Given the description of an element on the screen output the (x, y) to click on. 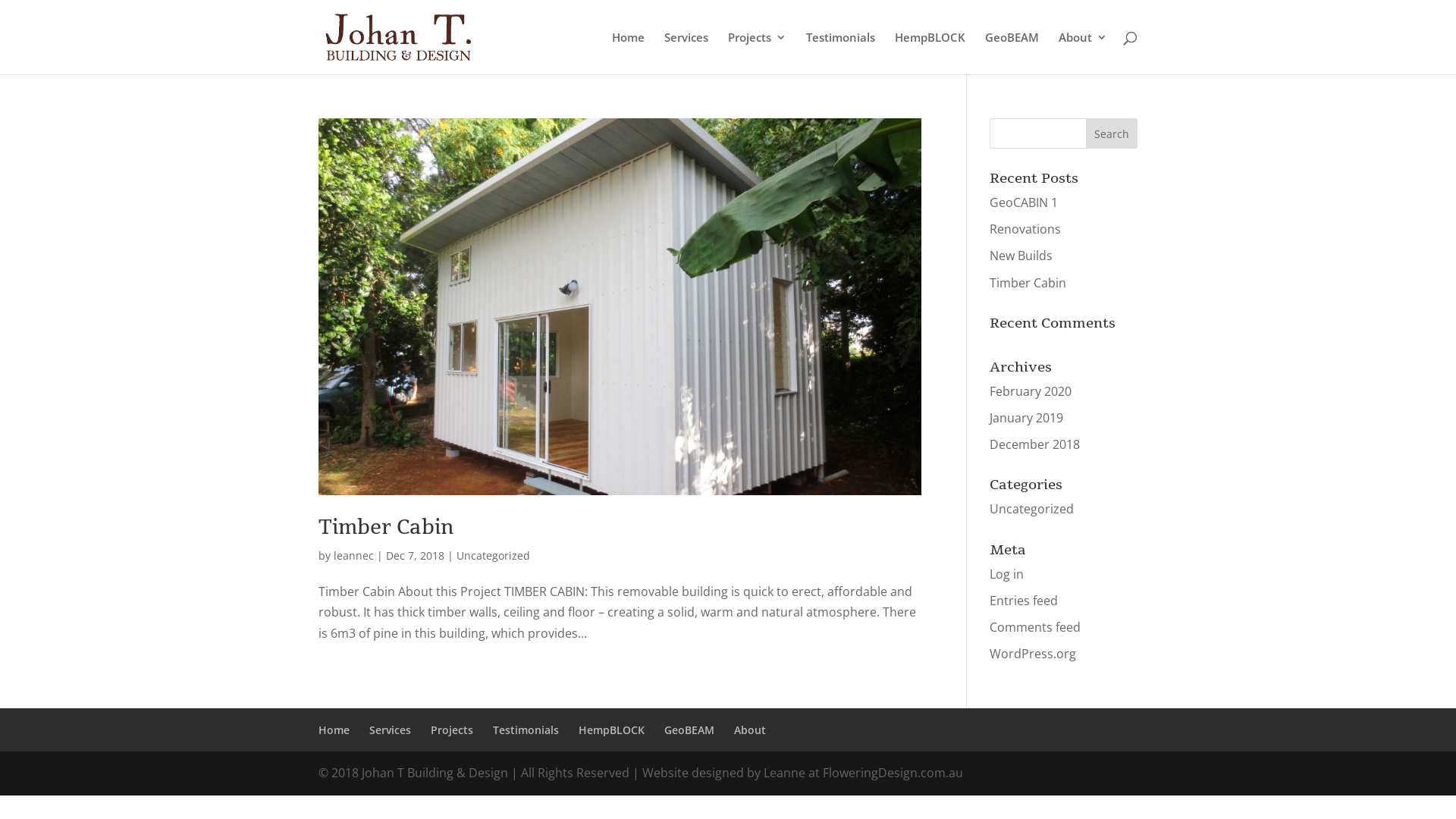
GeoBEAM Element type: text (689, 729)
Testimonials Element type: text (840, 52)
New Builds Element type: text (1020, 255)
Timber Cabin Element type: text (1027, 282)
GeoBEAM Element type: text (1011, 52)
Home Element type: text (627, 52)
Renovations Element type: text (1024, 228)
Comments feed Element type: text (1034, 626)
GeoCABIN 1 Element type: text (1023, 202)
About Element type: text (749, 729)
About Element type: text (1082, 52)
Uncategorized Element type: text (1031, 508)
Entries feed Element type: text (1023, 600)
January 2019 Element type: text (1026, 417)
Uncategorized Element type: text (493, 555)
Home Element type: text (333, 729)
December 2018 Element type: text (1034, 444)
Timber Cabin Element type: text (386, 527)
February 2020 Element type: text (1030, 390)
Projects Element type: text (451, 729)
Testimonials Element type: text (525, 729)
WordPress.org Element type: text (1032, 653)
leannec Element type: text (353, 555)
Search Element type: text (1111, 133)
Services Element type: text (686, 52)
HempBLOCK Element type: text (929, 52)
Log in Element type: text (1006, 573)
Projects Element type: text (757, 52)
HempBLOCK Element type: text (611, 729)
Services Element type: text (390, 729)
